Given the description of an element on the screen output the (x, y) to click on. 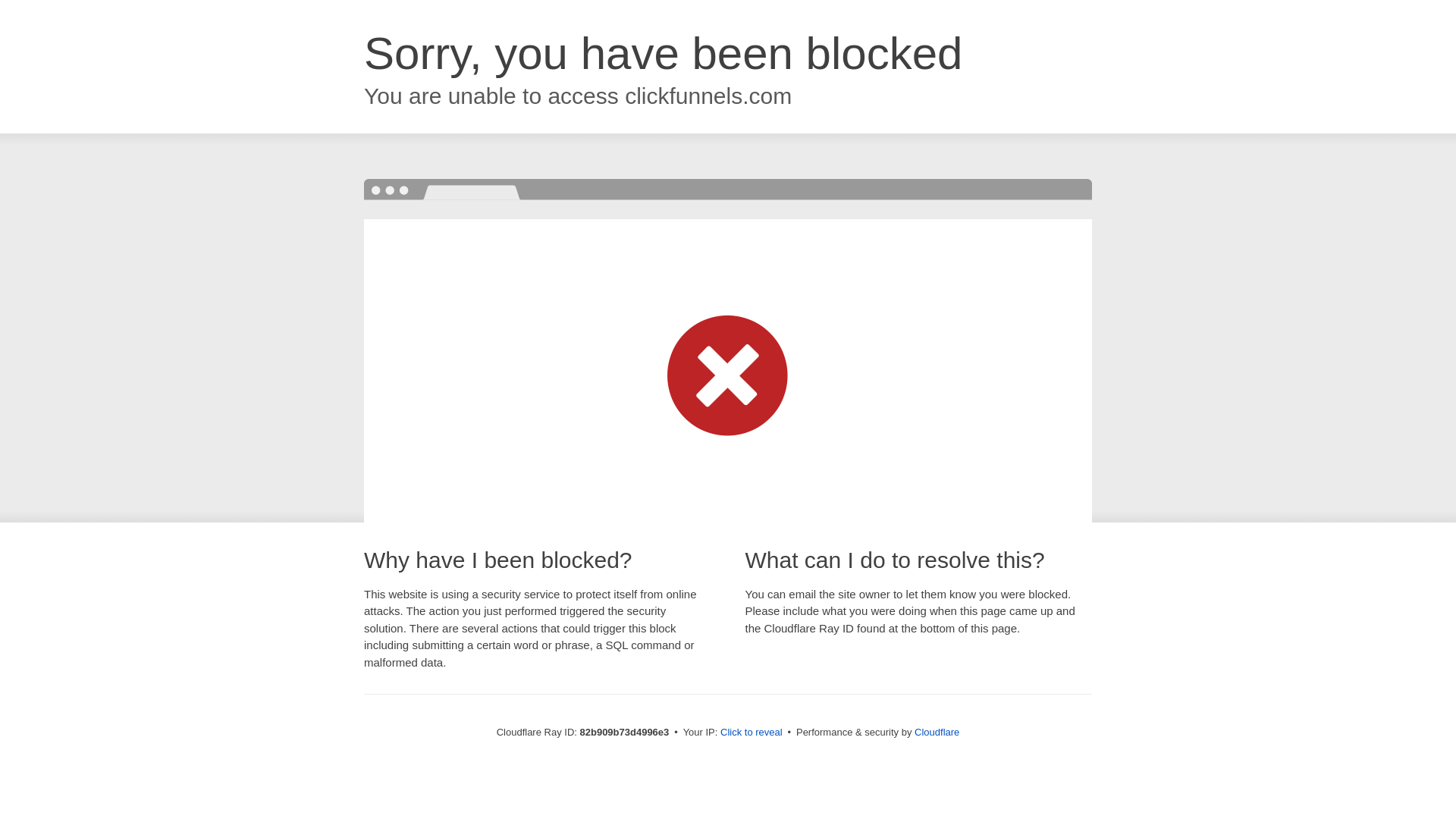
Cloudflare Element type: text (936, 731)
Click to reveal Element type: text (751, 732)
